Given the description of an element on the screen output the (x, y) to click on. 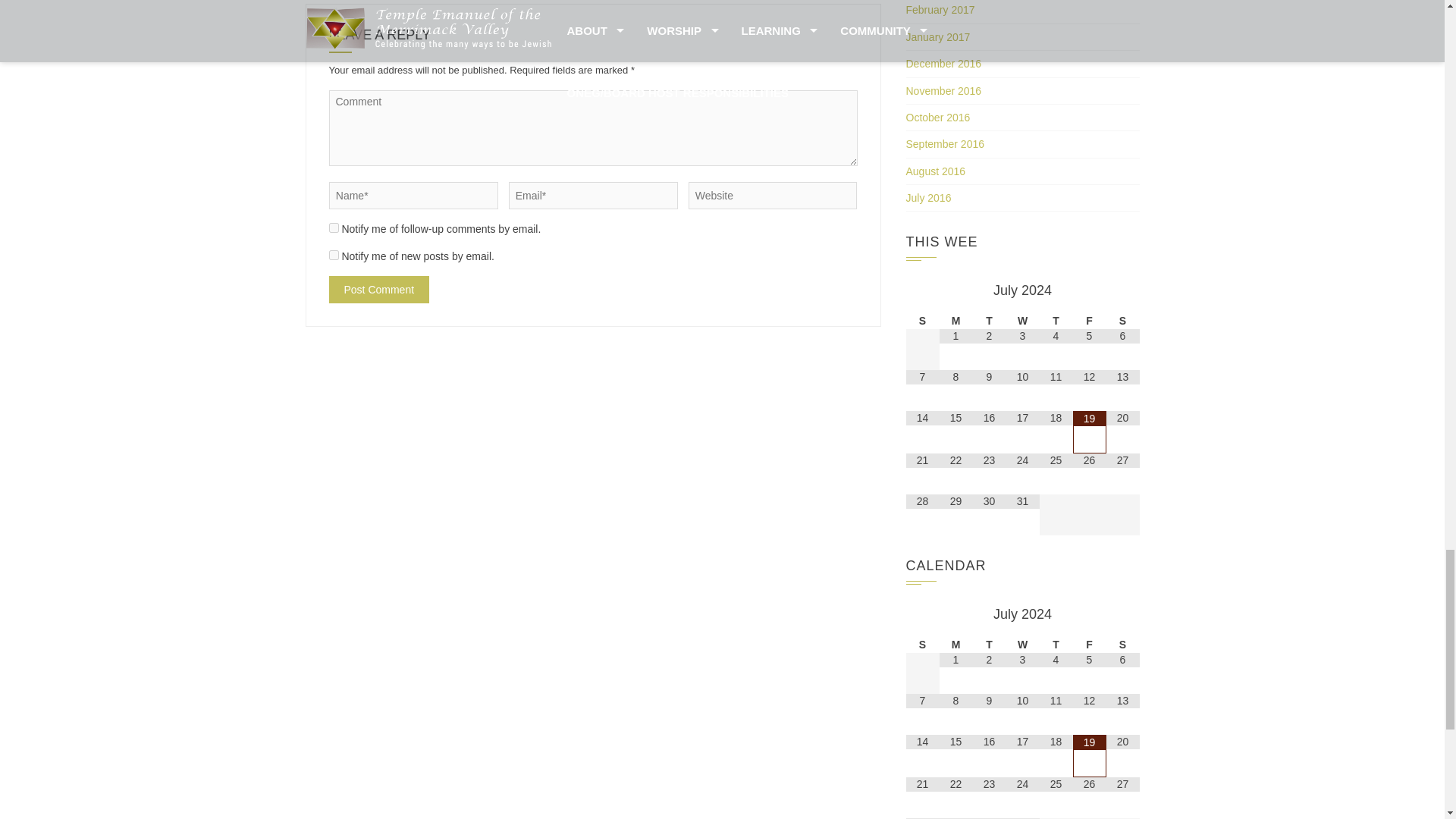
Next Month (1121, 614)
Next Month (1121, 290)
subscribe (334, 255)
Previous Month (922, 290)
Post Comment (379, 289)
subscribe (334, 227)
Previous Month (922, 614)
